Given the description of an element on the screen output the (x, y) to click on. 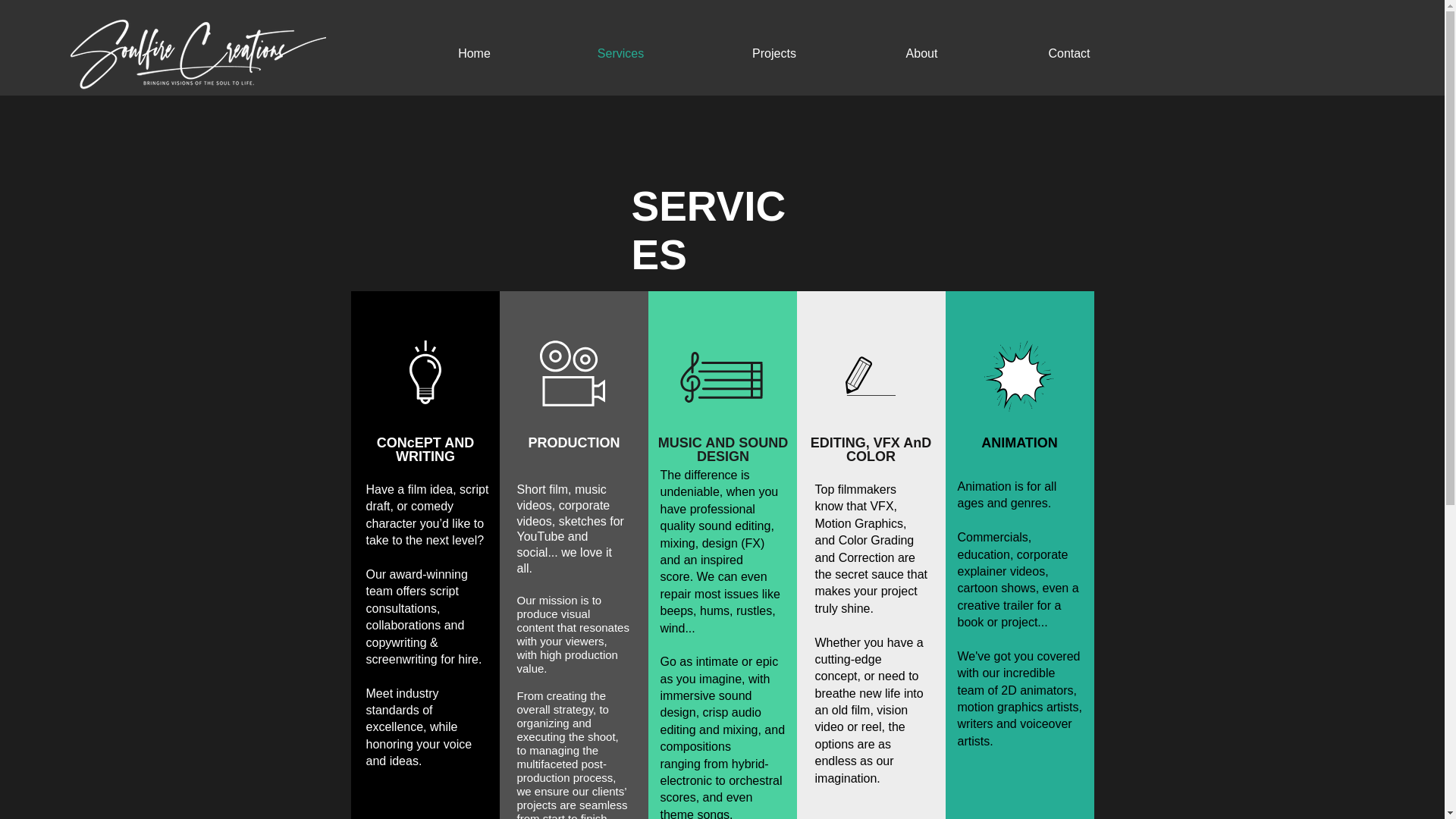
About (921, 53)
Contact (1068, 53)
Projects (773, 53)
Home (473, 53)
Services (620, 53)
